Given the description of an element on the screen output the (x, y) to click on. 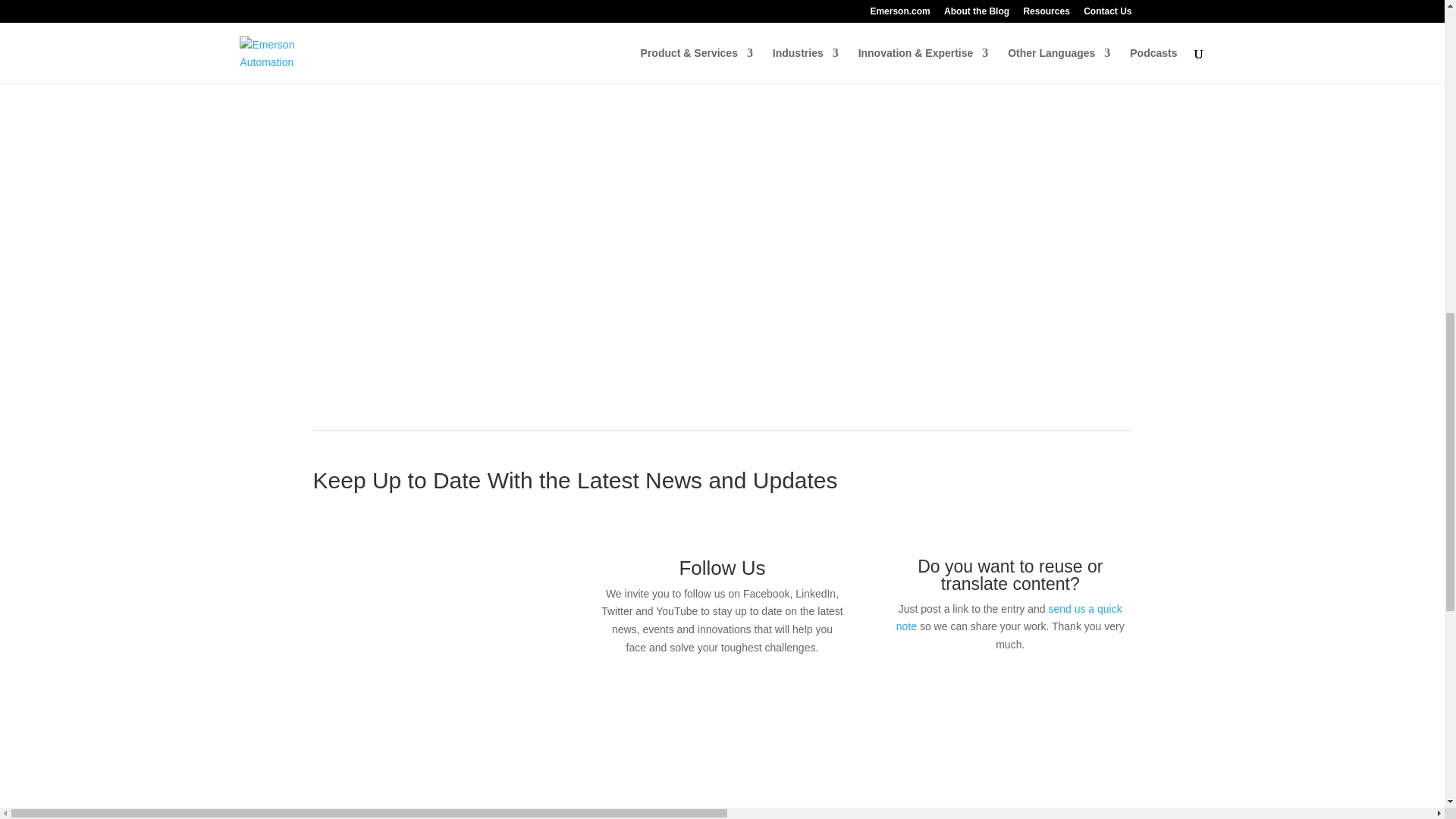
Follow on Facebook (675, 691)
Follow on Youtube (766, 691)
Follow on LinkedIn (706, 691)
Follow on X (737, 691)
